Given the description of an element on the screen output the (x, y) to click on. 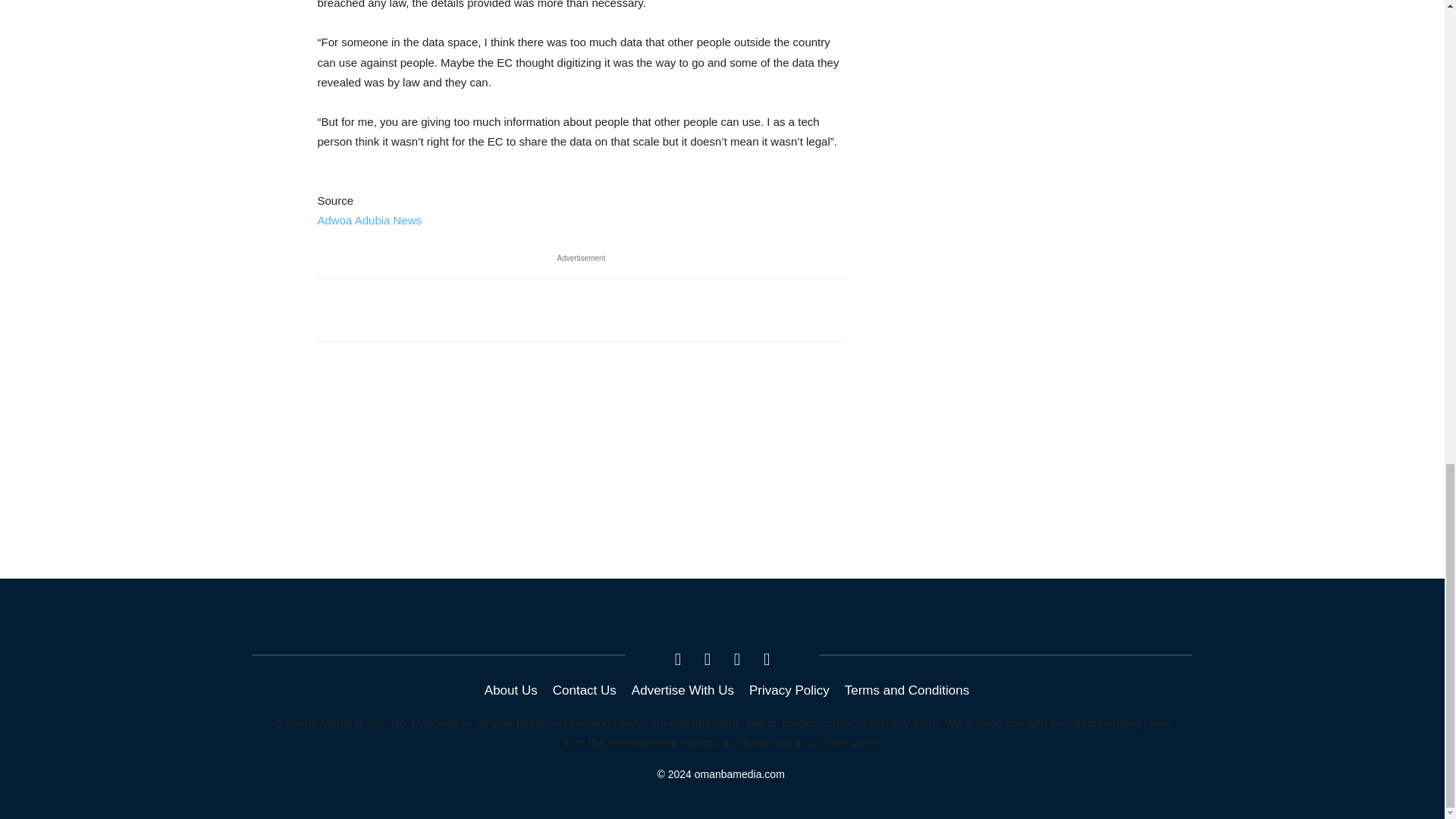
Adwoa Adubia News (369, 219)
